Given the description of an element on the screen output the (x, y) to click on. 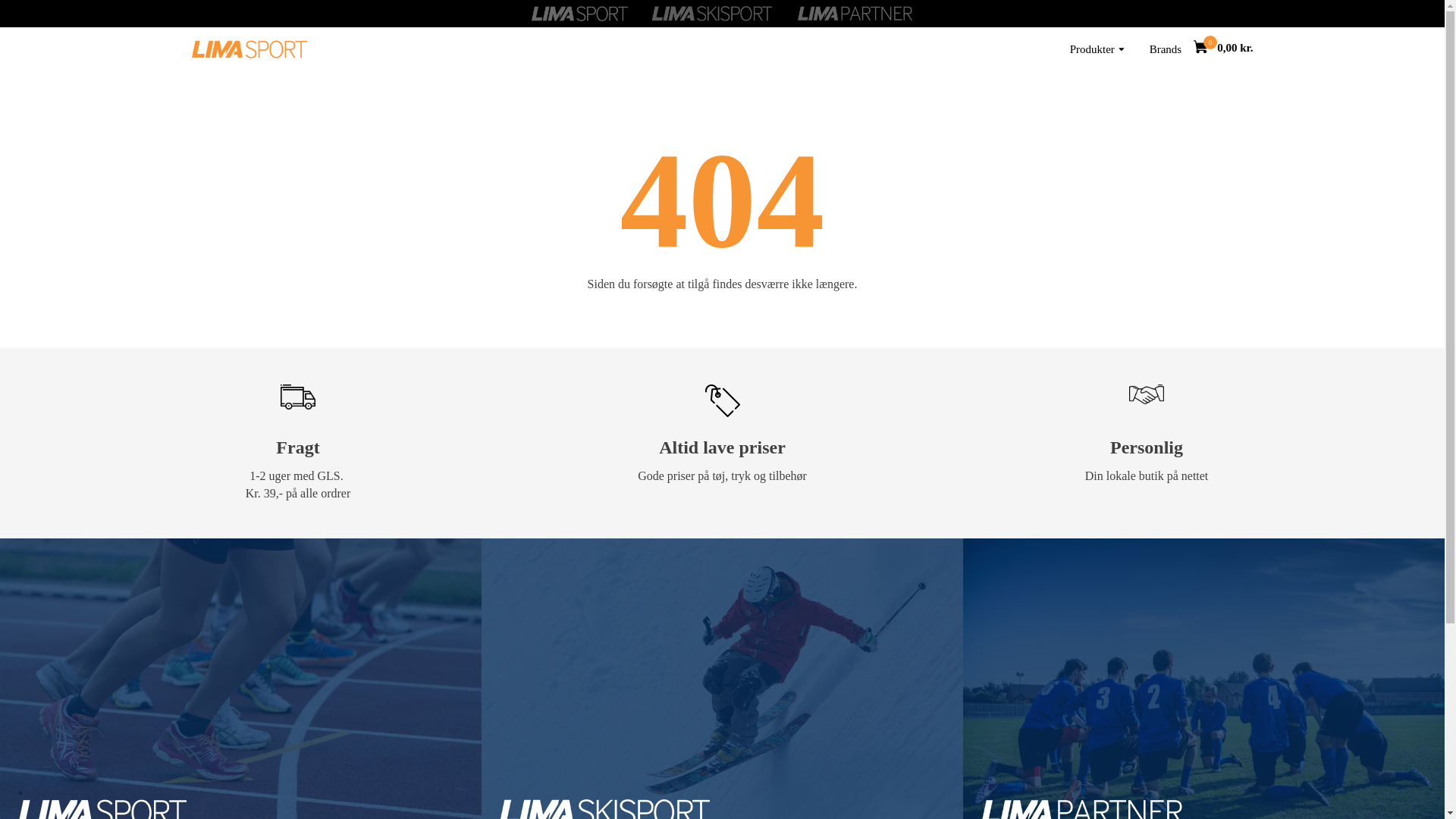
Go to Cart (1205, 48)
Brands (1165, 49)
Produkter (1097, 49)
